Given the description of an element on the screen output the (x, y) to click on. 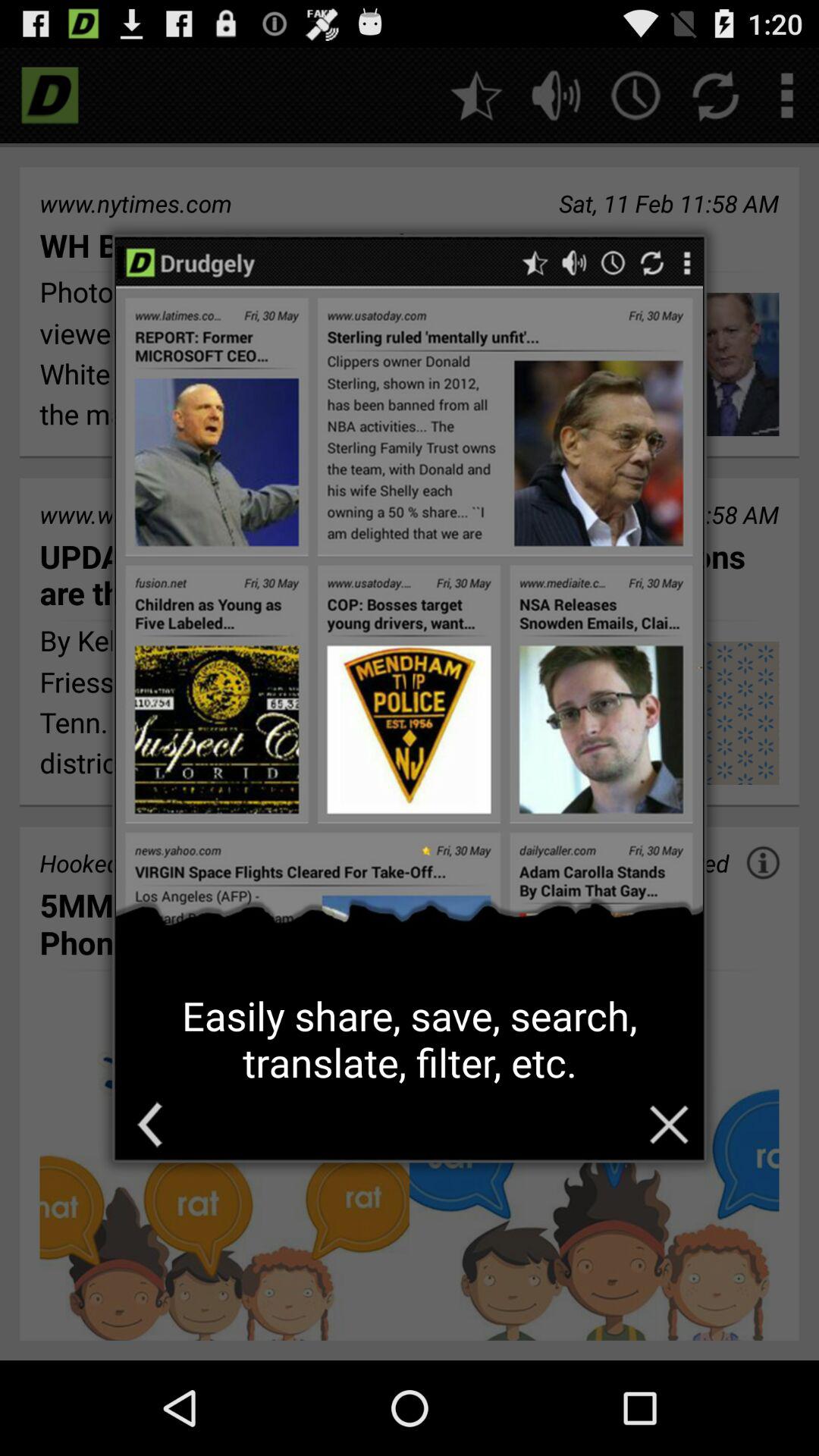
turn off icon at the bottom left corner (149, 1124)
